Given the description of an element on the screen output the (x, y) to click on. 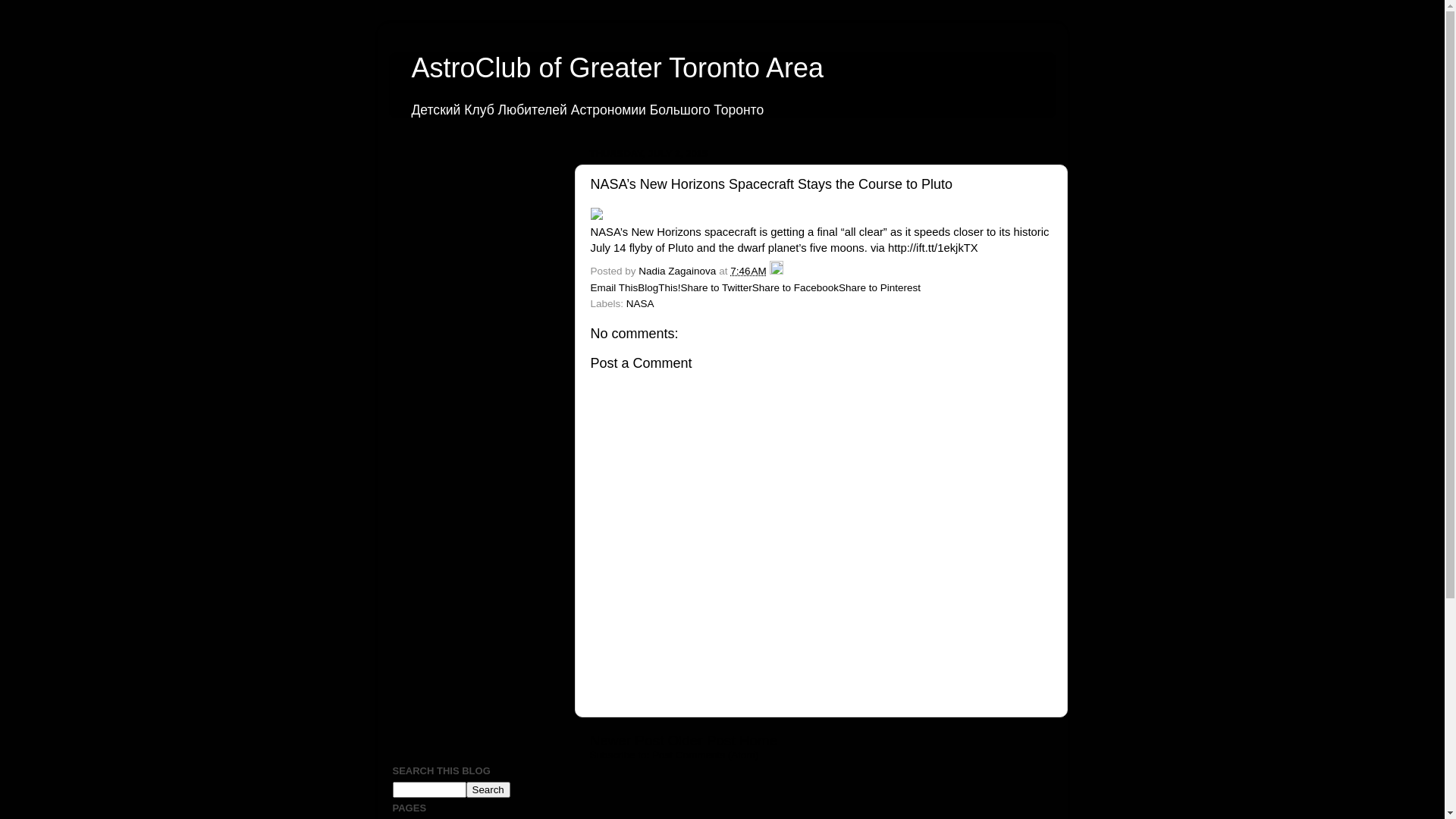
BlogThis! Element type: text (658, 287)
Newer Post Element type: text (626, 740)
search Element type: hover (487, 789)
Older Post Element type: text (700, 740)
AstroClub of Greater Toronto Area Element type: text (617, 67)
Share to Pinterest Element type: text (879, 287)
search Element type: hover (429, 789)
Home Element type: text (758, 740)
Share to Twitter Element type: text (716, 287)
Email This Element type: text (613, 287)
Share to Facebook Element type: text (795, 287)
NASA Element type: text (640, 303)
Nadia Zagainova Element type: text (678, 270)
Edit Post Element type: hover (776, 270)
Search Element type: text (487, 789)
Post Comments (Atom) Element type: text (705, 754)
